Given the description of an element on the screen output the (x, y) to click on. 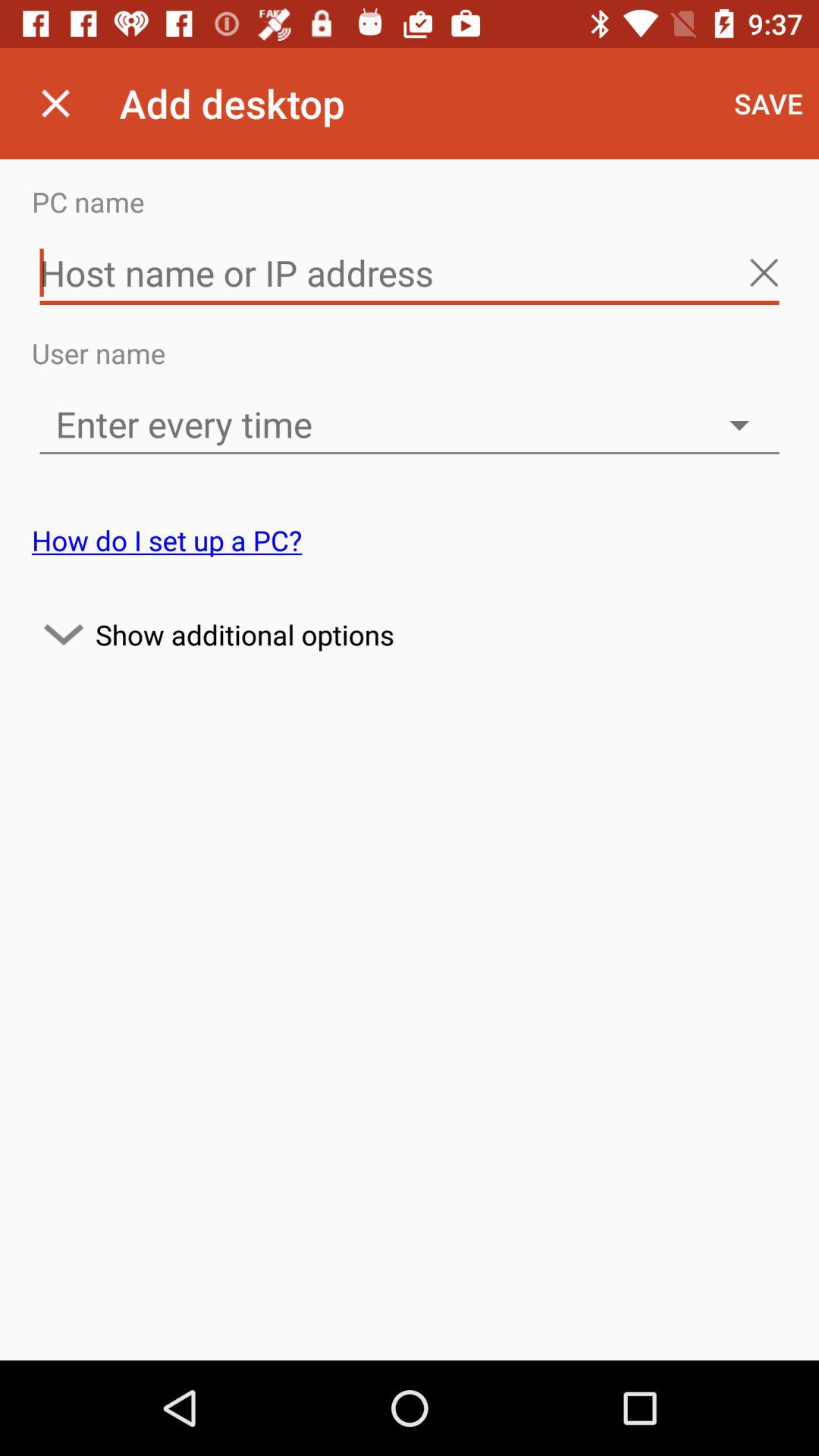
press item above pc name icon (768, 103)
